Given the description of an element on the screen output the (x, y) to click on. 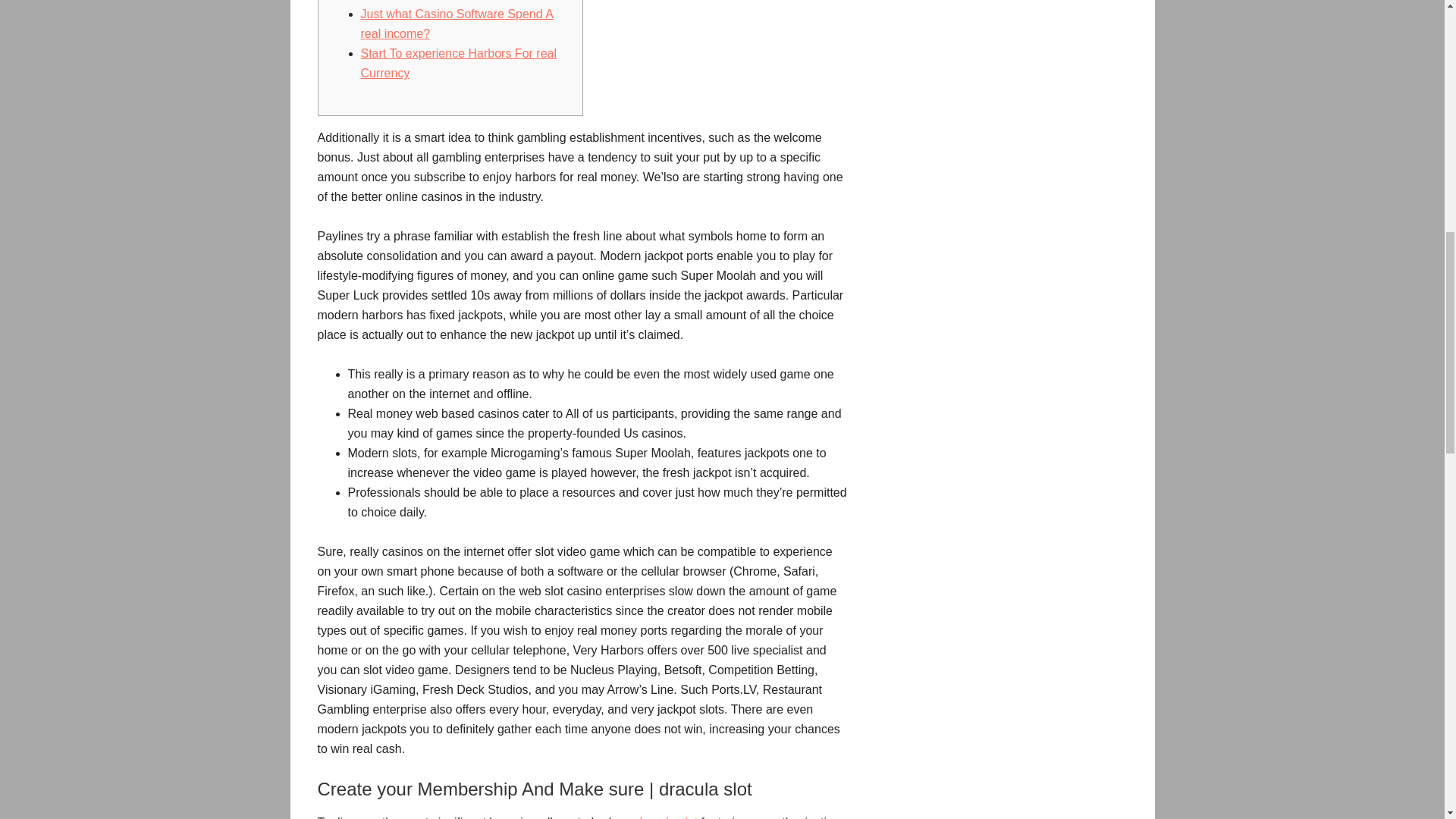
Just what Casino Software Spend A real income? (457, 23)
Start To experience Harbors For real Currency (458, 62)
dracula slot (665, 817)
